Given the description of an element on the screen output the (x, y) to click on. 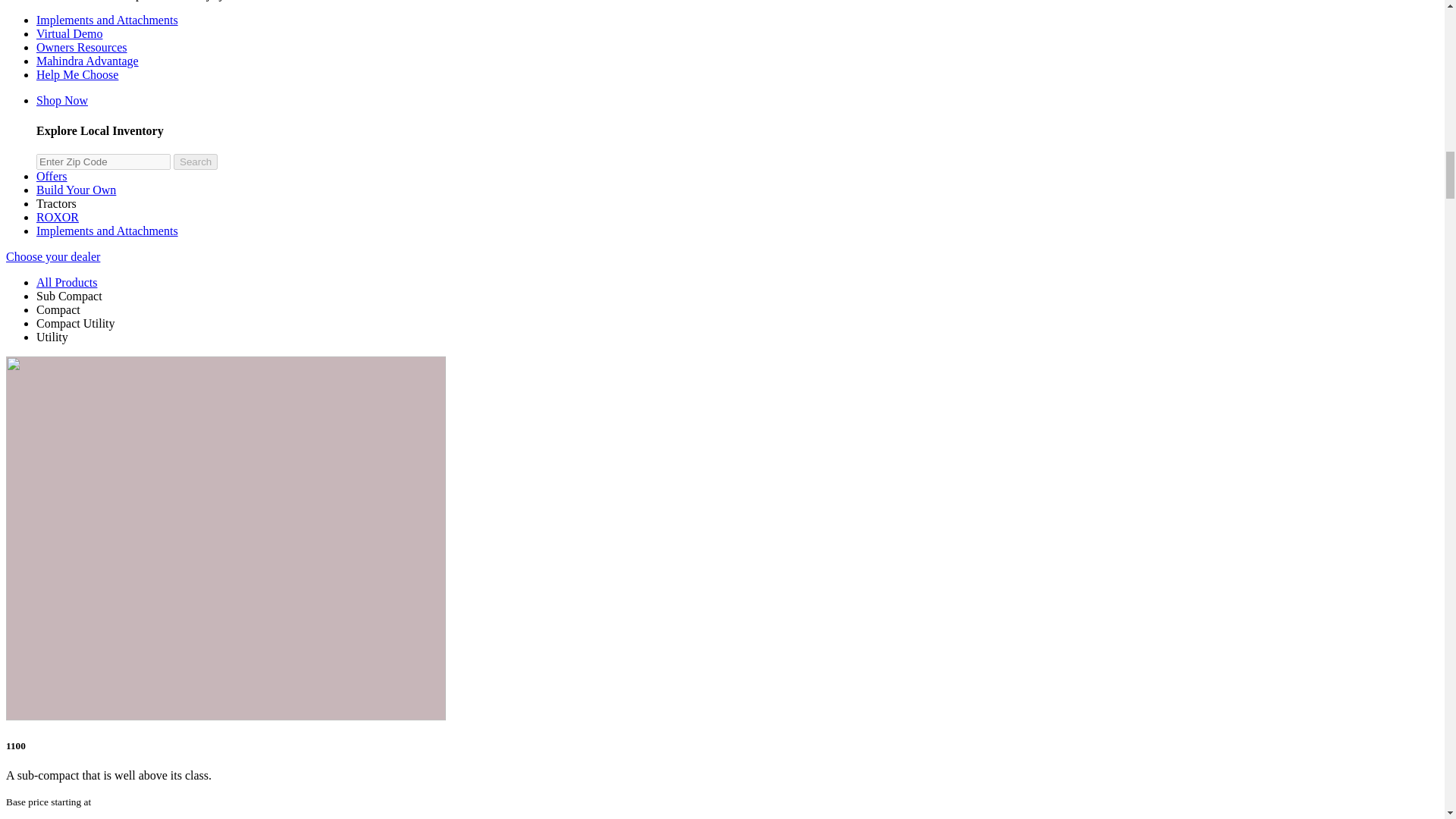
Shop Now (61, 100)
Help Me Choose (76, 74)
Owners Resources (82, 47)
Virtual Demo (68, 33)
Mahindra Advantage (87, 60)
Search (194, 161)
Implements and Attachments (106, 19)
